Given the description of an element on the screen output the (x, y) to click on. 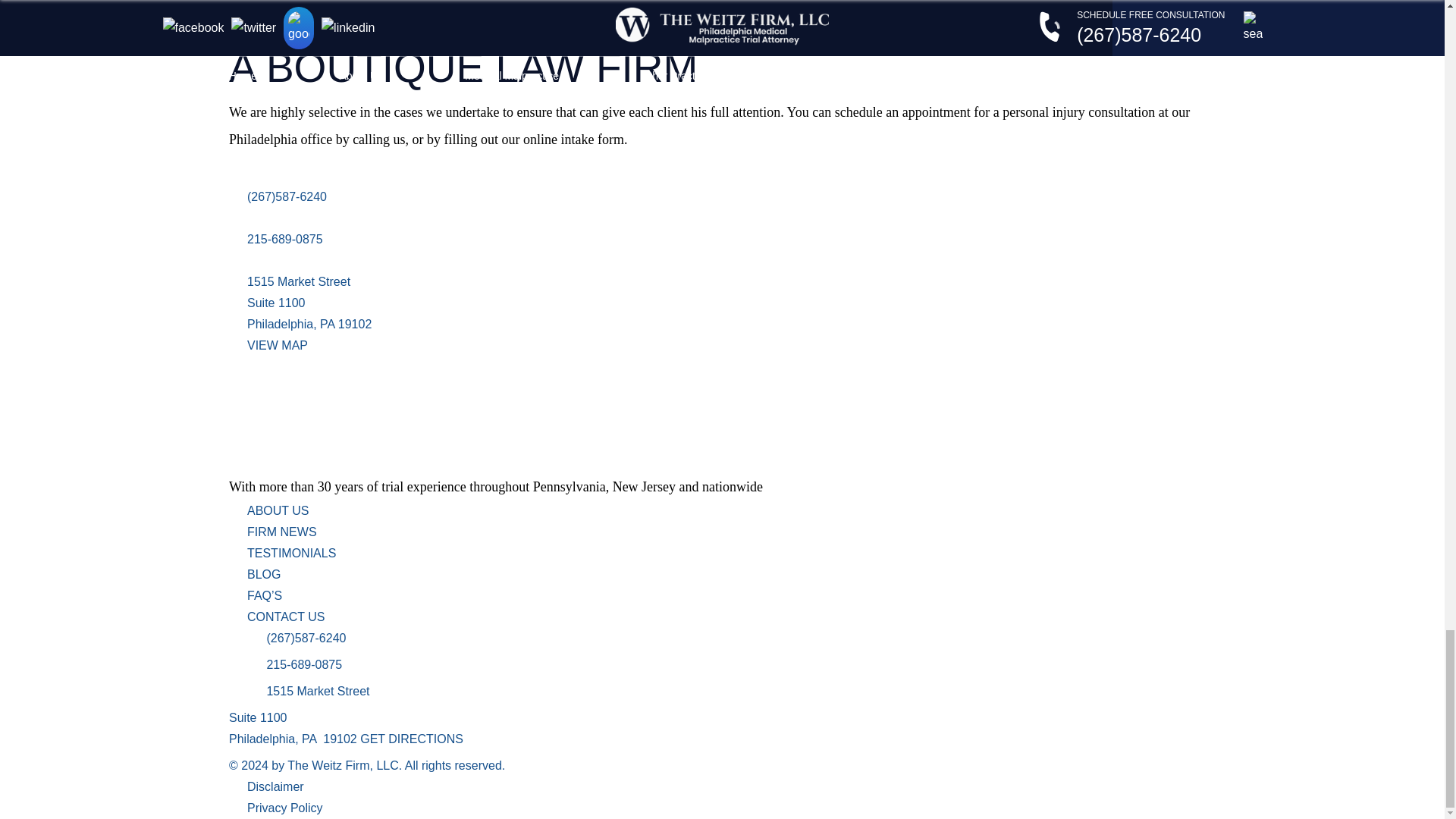
Submit (252, 17)
